Given the description of an element on the screen output the (x, y) to click on. 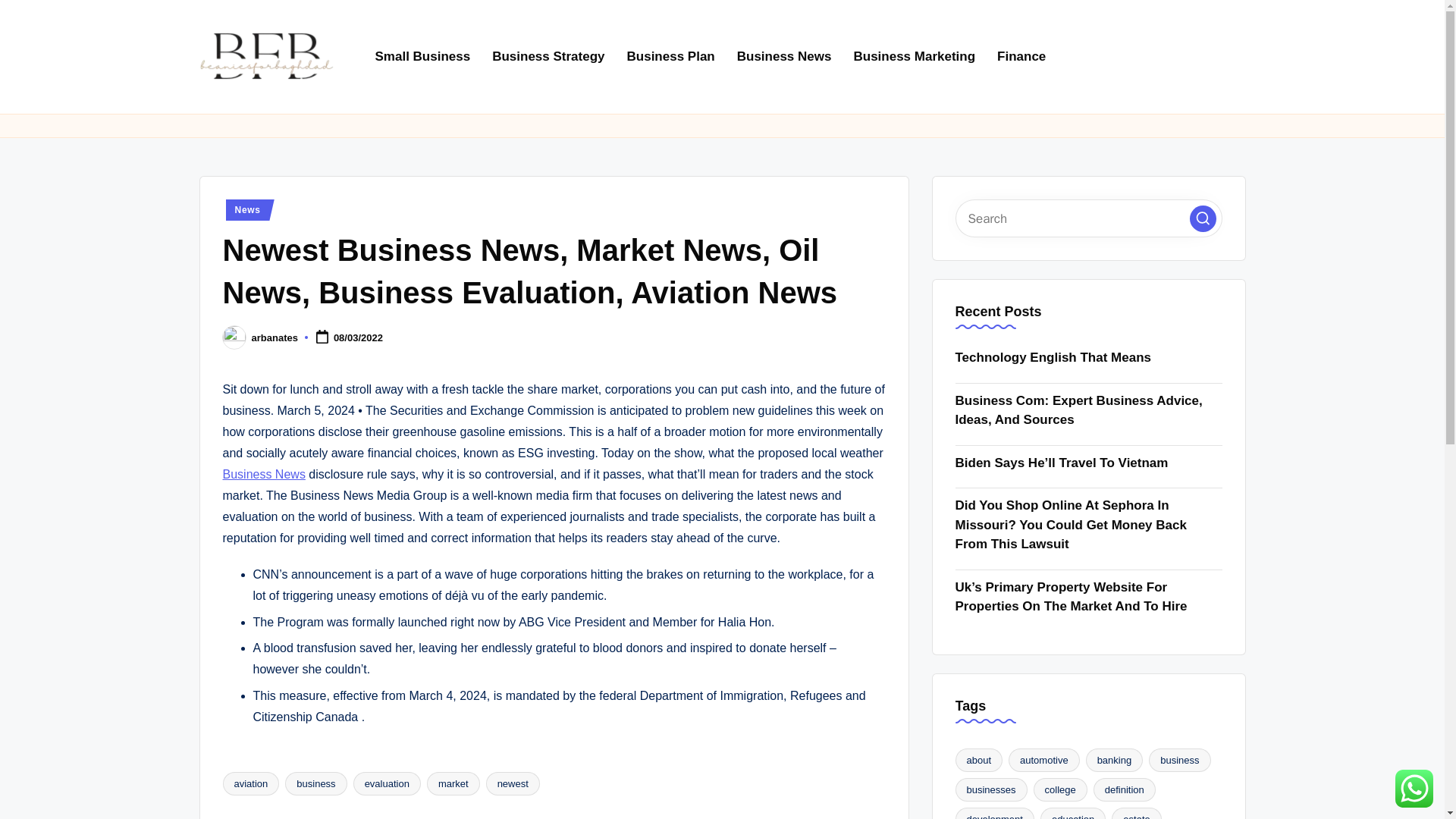
market (453, 783)
college (1060, 789)
Business Marketing (914, 56)
View all posts by arbanates (274, 337)
Small Business (422, 56)
Business Com: Expert Business Advice, Ideas, And Sources (1089, 410)
banking (1114, 760)
newest (513, 783)
business (315, 783)
Business Plan (670, 56)
